Given the description of an element on the screen output the (x, y) to click on. 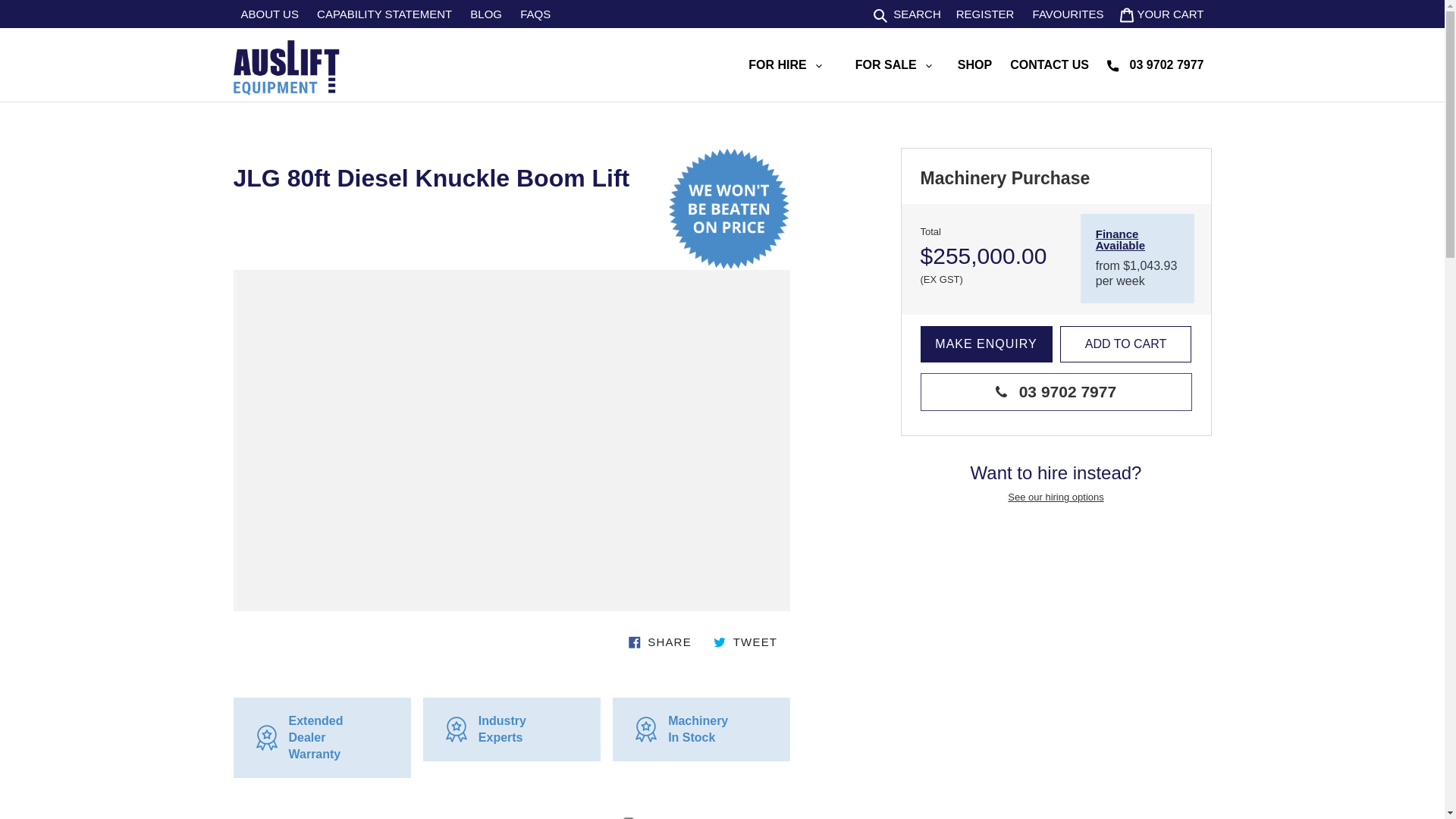
FOR SALE (893, 64)
BLOG (486, 13)
SEARCH (906, 13)
YOUR CART (1161, 13)
FOR HIRE (784, 64)
FOR HIRE (784, 64)
FOR SALE (893, 64)
REGISTER (985, 13)
ABOUT US (268, 13)
FAVOURITES (1068, 13)
CAPABILITY STATEMENT (384, 13)
FAQS (534, 13)
